Given the description of an element on the screen output the (x, y) to click on. 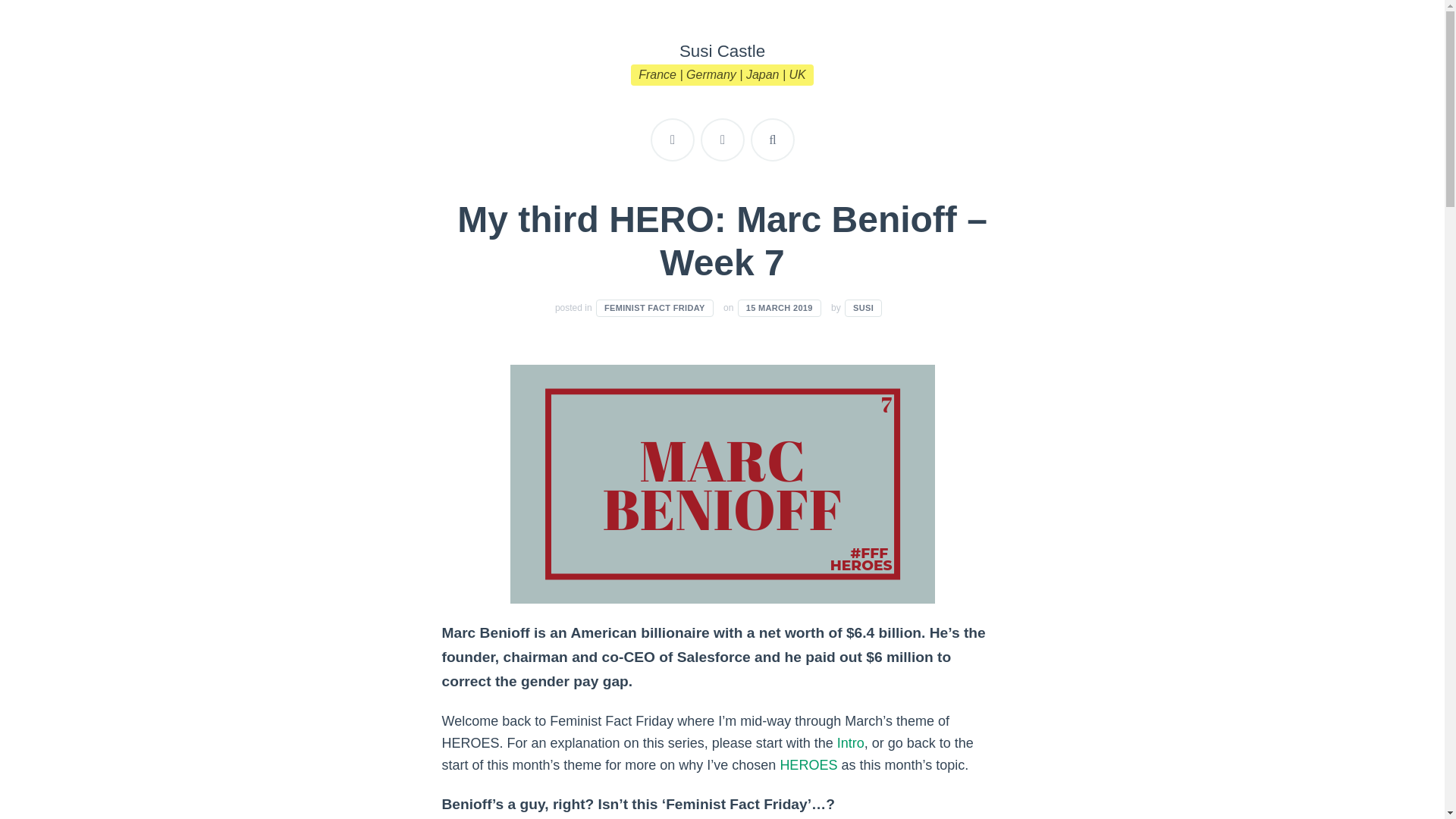
SUSI (863, 307)
HEROES (807, 765)
View all posts by Susi (863, 307)
back to blog (672, 139)
Intro (850, 743)
search (772, 139)
go to home (722, 139)
FEMINIST FACT FRIDAY (654, 307)
4:48 am (779, 307)
15 MARCH 2019 (779, 307)
